Given the description of an element on the screen output the (x, y) to click on. 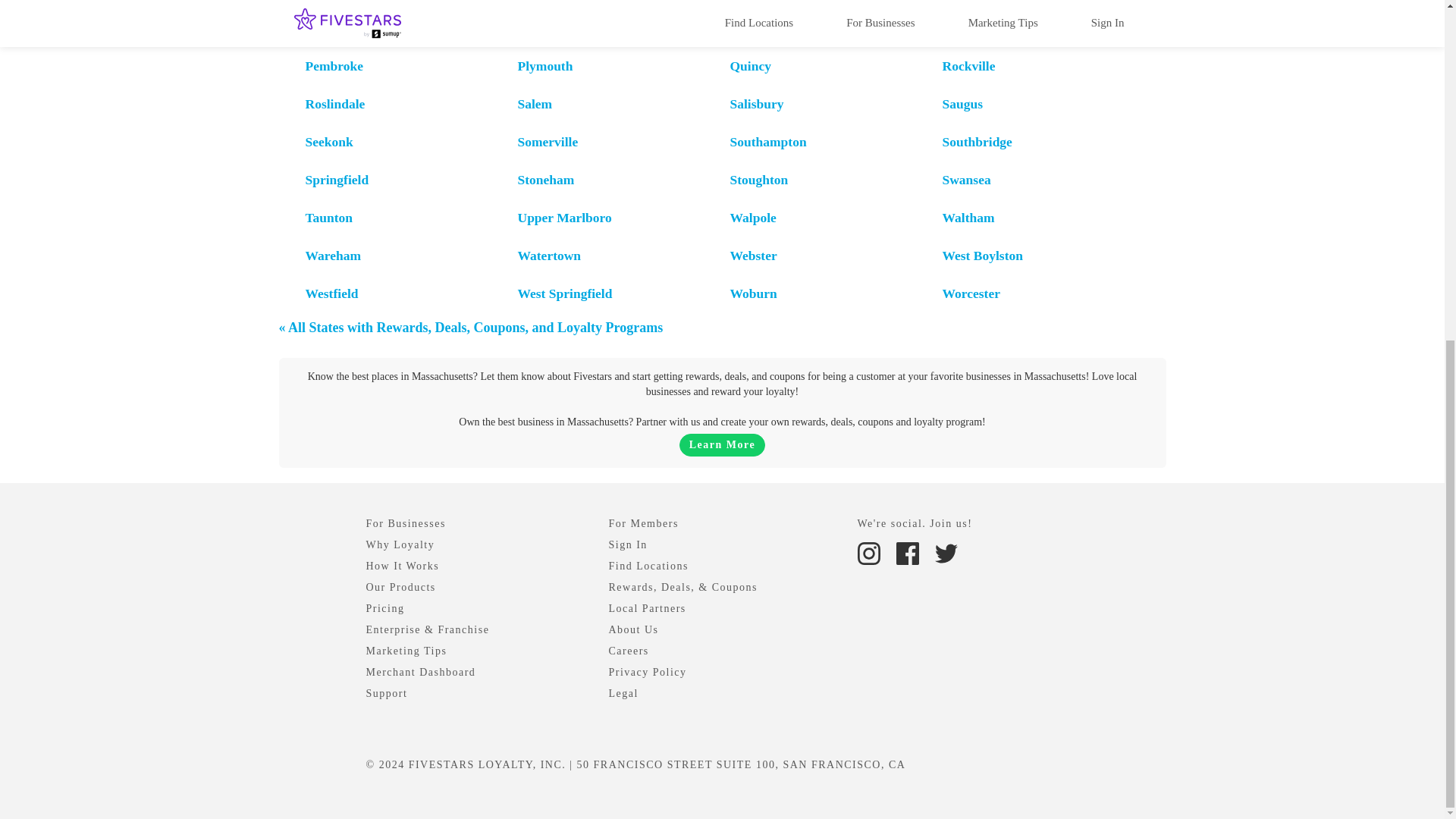
Fivestars Twitter (945, 553)
Marketing Tips and Blog (405, 650)
Fivestars Twitter (945, 552)
Fivestars Facebook (908, 552)
Fivestars Instagram (868, 553)
Fivestars Facebook (907, 553)
See a Demo and Learn More About Fivestars (722, 445)
Fivestars Instagram (869, 552)
Find Locations (647, 565)
Support and Customer Service (386, 693)
